Given the description of an element on the screen output the (x, y) to click on. 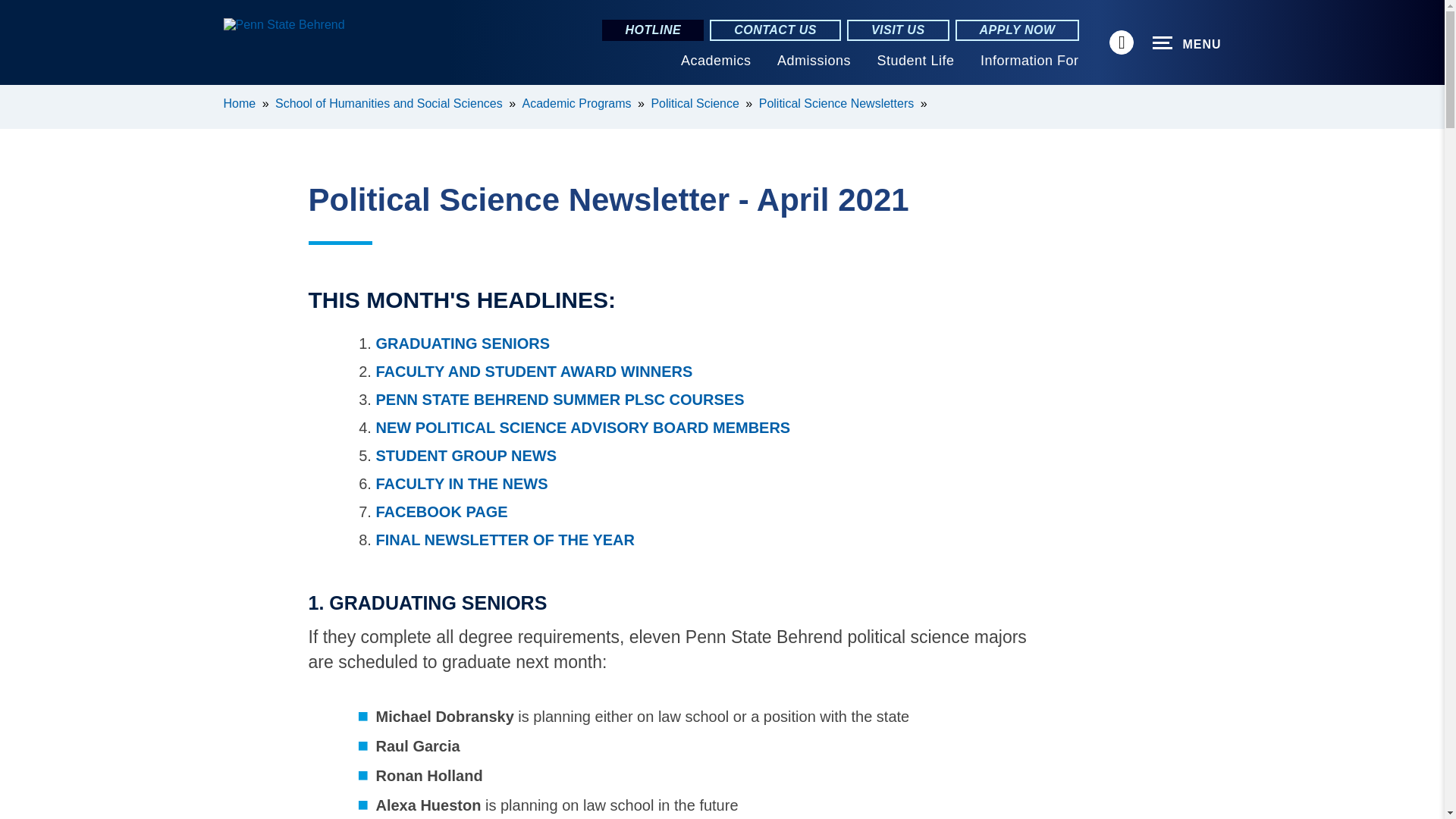
HOTLINE (652, 29)
SKIP TO MAIN CONTENT (19, 95)
VISIT US (898, 29)
Academics (716, 60)
APPLY NOW (1017, 29)
Admissions (813, 60)
MENU (1187, 43)
Student Life (914, 60)
CONTACT US (775, 29)
Information For (1028, 60)
